Given the description of an element on the screen output the (x, y) to click on. 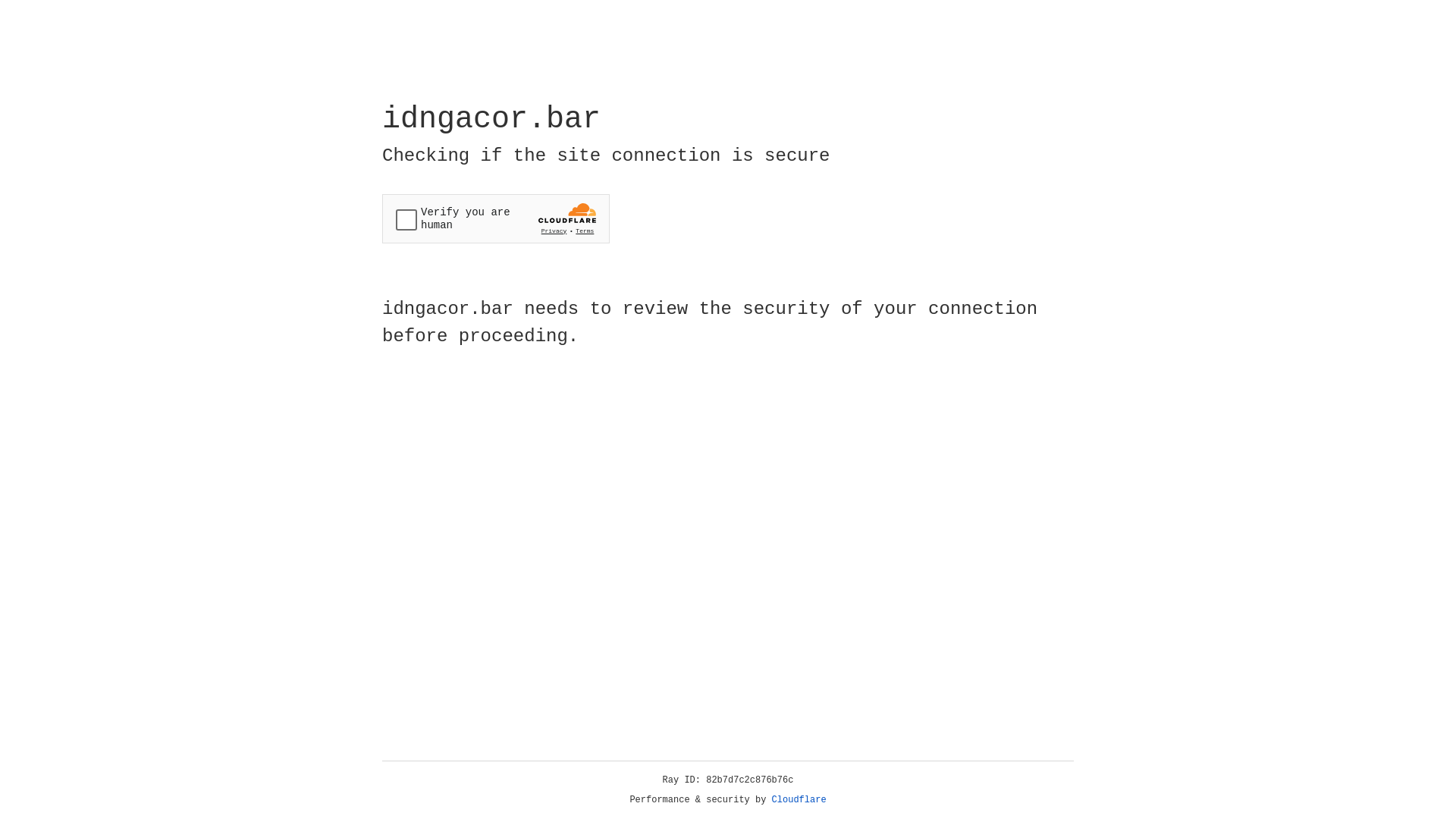
Widget containing a Cloudflare security challenge Element type: hover (495, 218)
Cloudflare Element type: text (798, 799)
